Given the description of an element on the screen output the (x, y) to click on. 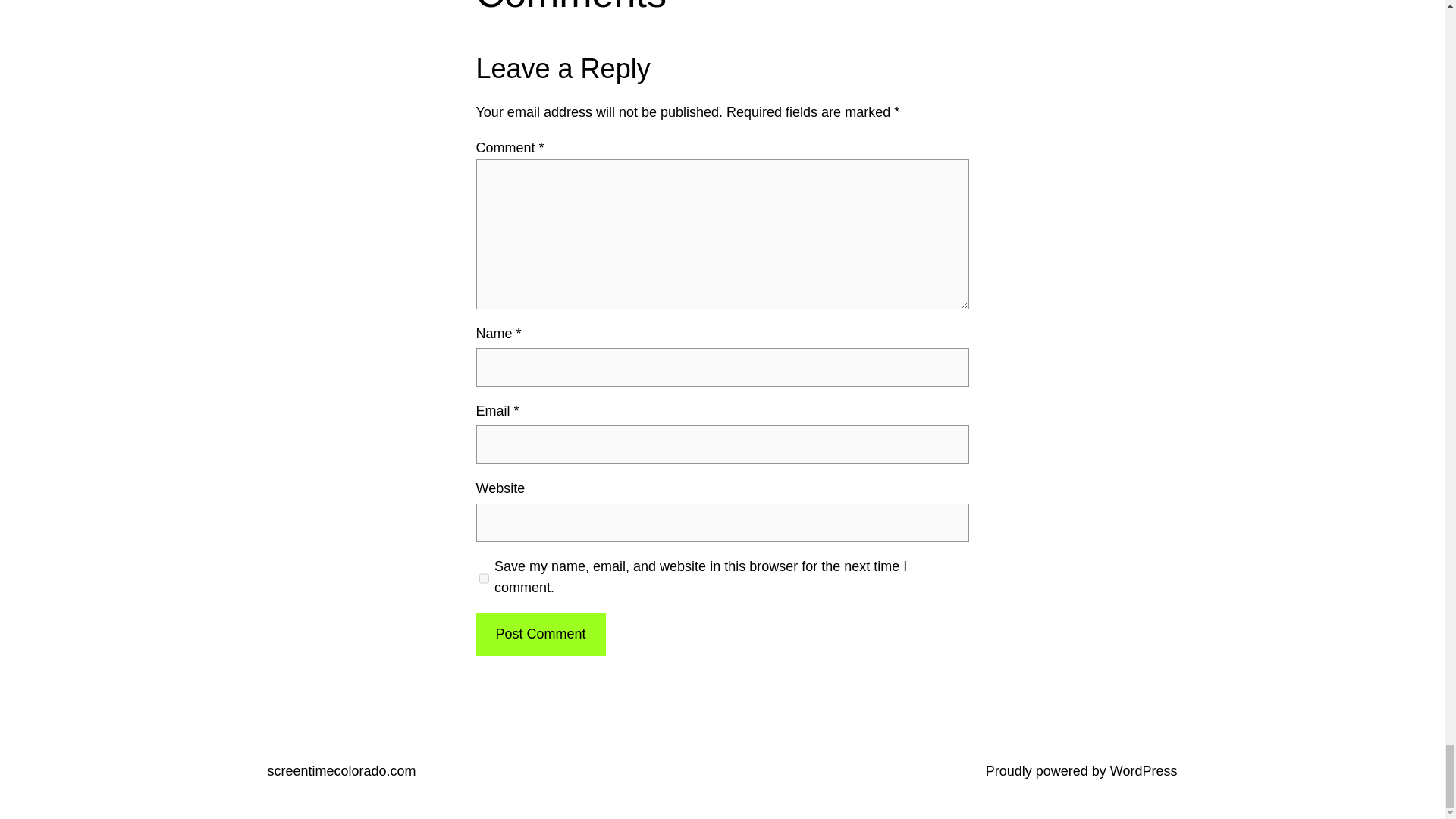
WordPress (1143, 770)
Post Comment (540, 634)
screentimecolorado.com (340, 770)
Post Comment (540, 634)
